Given the description of an element on the screen output the (x, y) to click on. 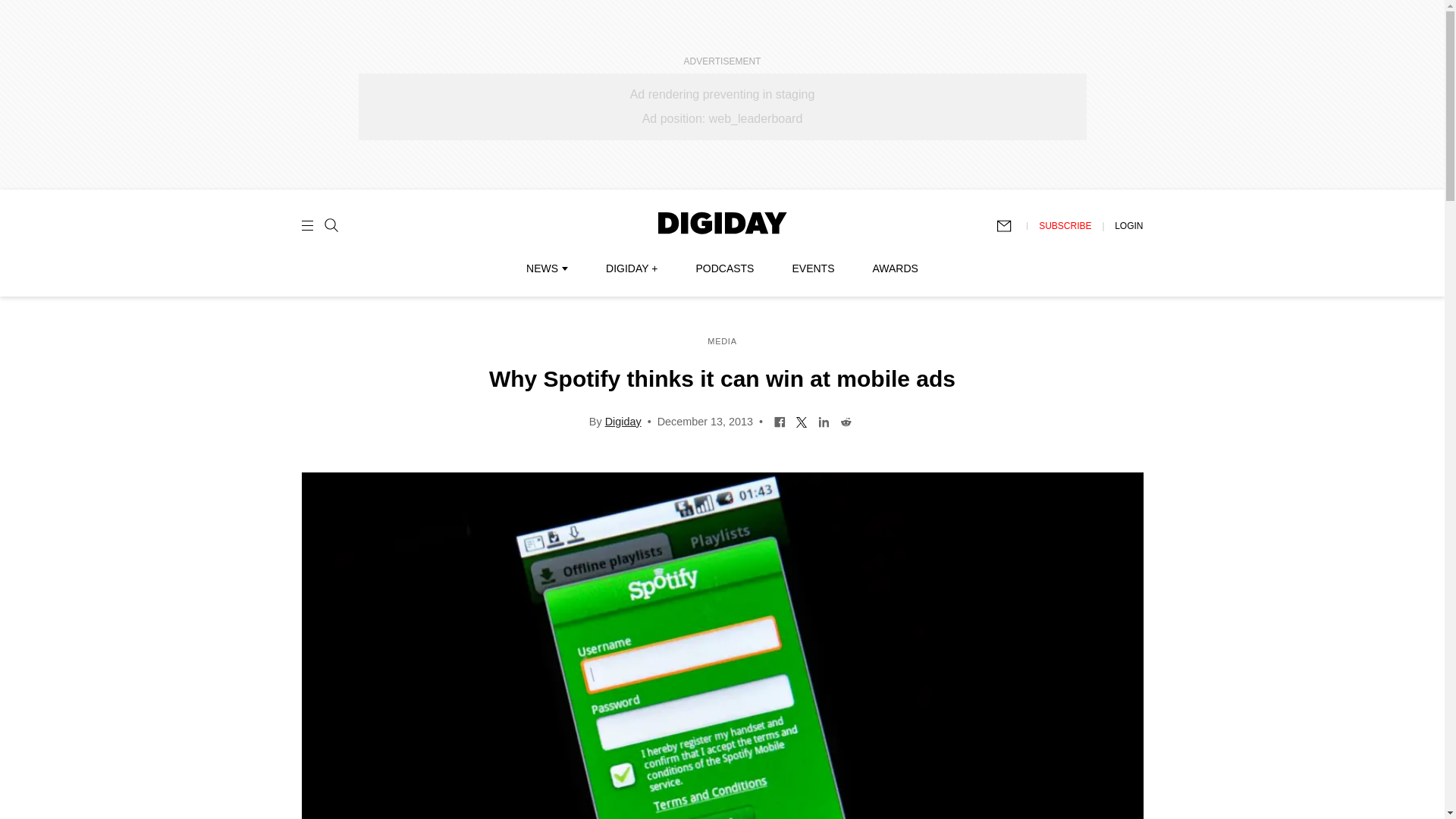
NEWS (546, 267)
EVENTS (813, 267)
Share on Facebook (779, 420)
SUBSCRIBE (1064, 225)
Share on Reddit (845, 420)
PODCASTS (725, 267)
LOGIN (1128, 225)
AWARDS (894, 267)
Subscribe (1010, 225)
Share on LinkedIn (822, 420)
Share on Twitter (801, 420)
